Given the description of an element on the screen output the (x, y) to click on. 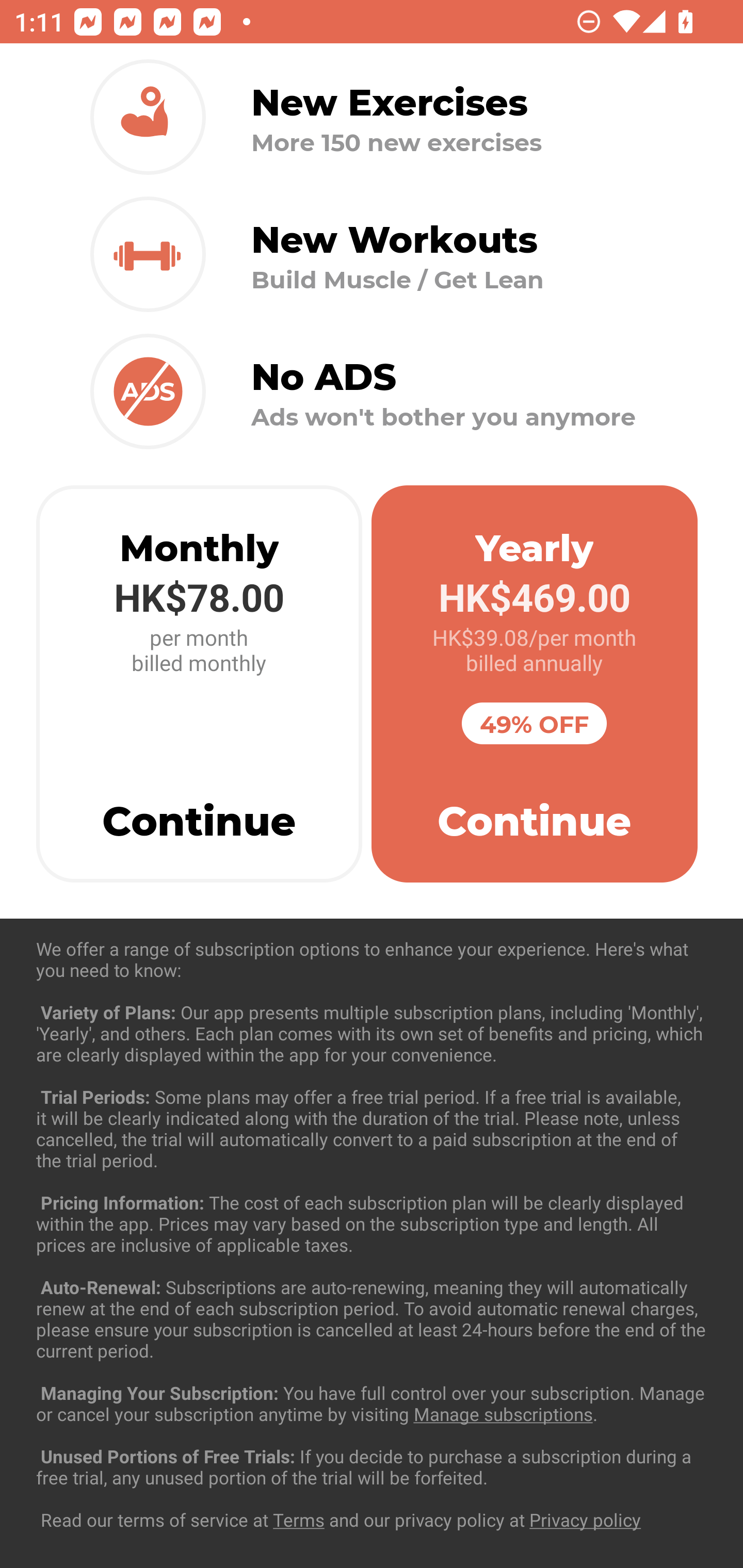
Monthly HK$78.00 per month
billed monthly Continue (199, 684)
Exercise Chest 37 exercises (371, 1033)
Exercise Forearms 4 exercises (371, 1232)
Exercise Legs 36 exercises (371, 1430)
